Given the description of an element on the screen output the (x, y) to click on. 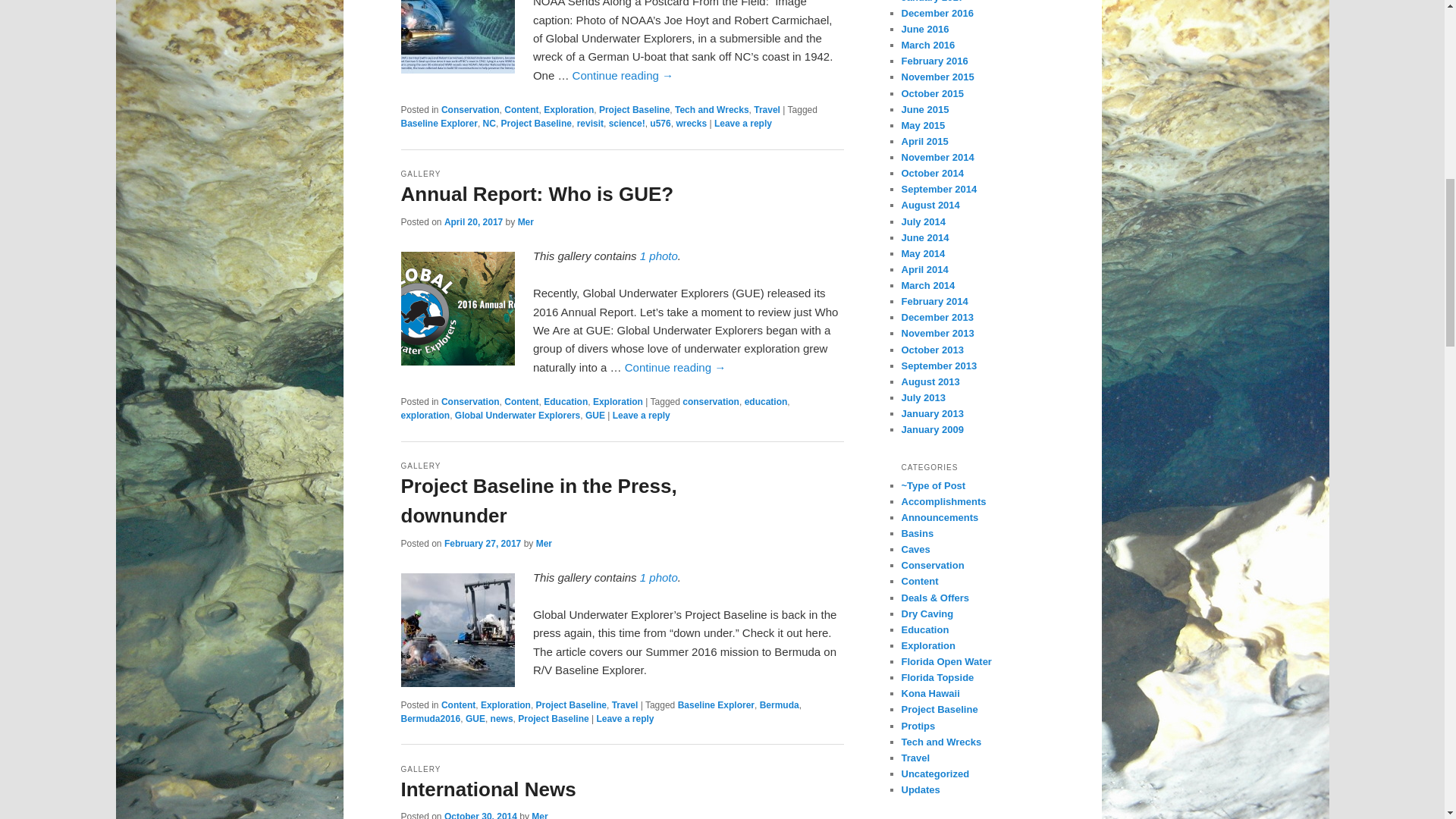
View all posts by Mer (543, 543)
View all posts by Mer (539, 815)
Permalink to Annual Report: Who is GUE? (659, 255)
Permalink to Project Baseline in the Press, downunder (659, 576)
4:46 am (473, 222)
View all posts by Mer (526, 222)
5:57 pm (480, 815)
8:08 am (482, 543)
